Given the description of an element on the screen output the (x, y) to click on. 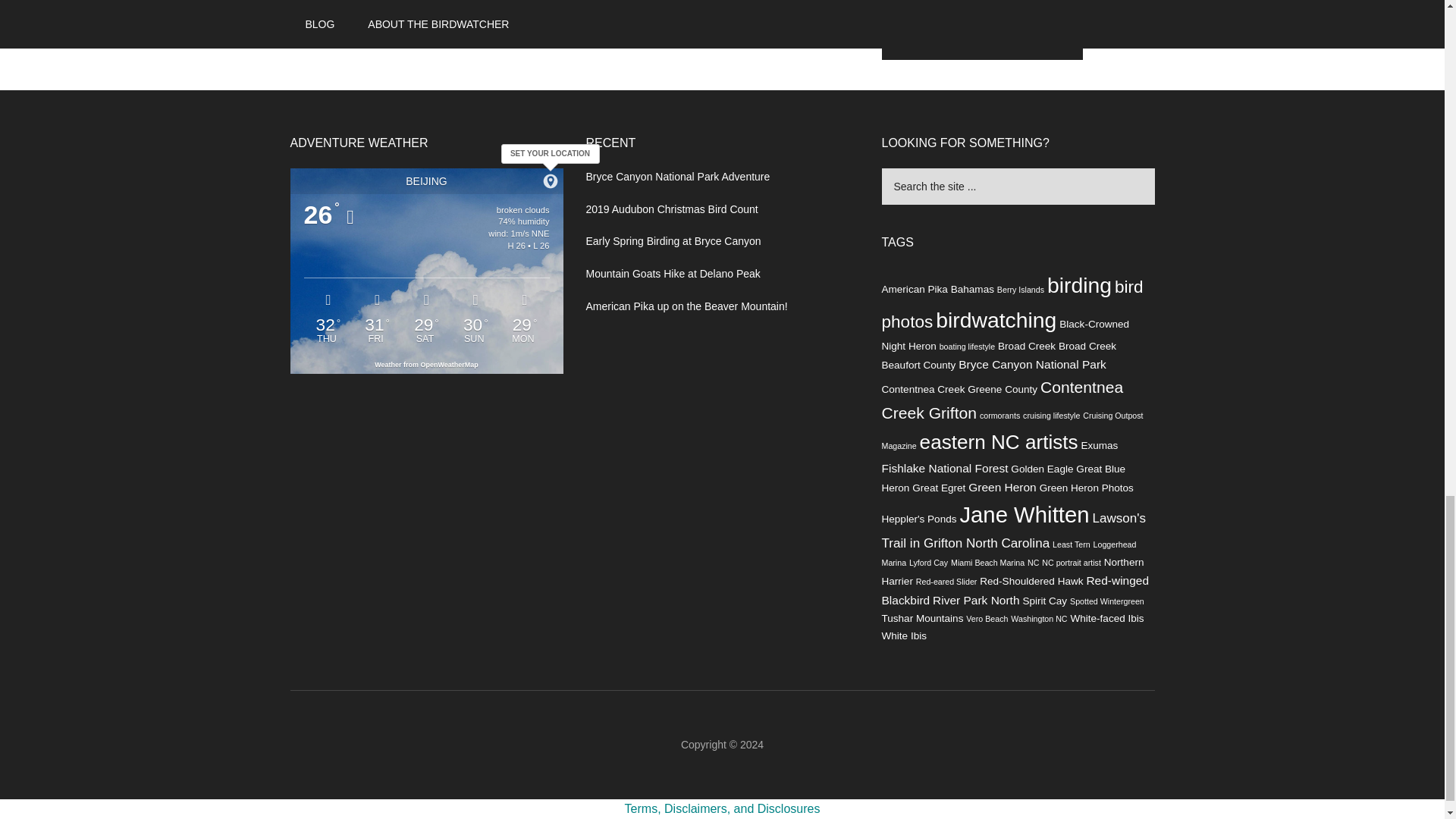
Bryce Canyon National Park Adventure (677, 176)
LEARN MORE ABOUT BIRDS (981, 37)
Set Your Location (550, 180)
2019 Audubon Christmas Bird Count (671, 209)
Mountain Goats Hike at Delano Peak (672, 273)
Early Spring Birding at Bryce Canyon (672, 241)
